Given the description of an element on the screen output the (x, y) to click on. 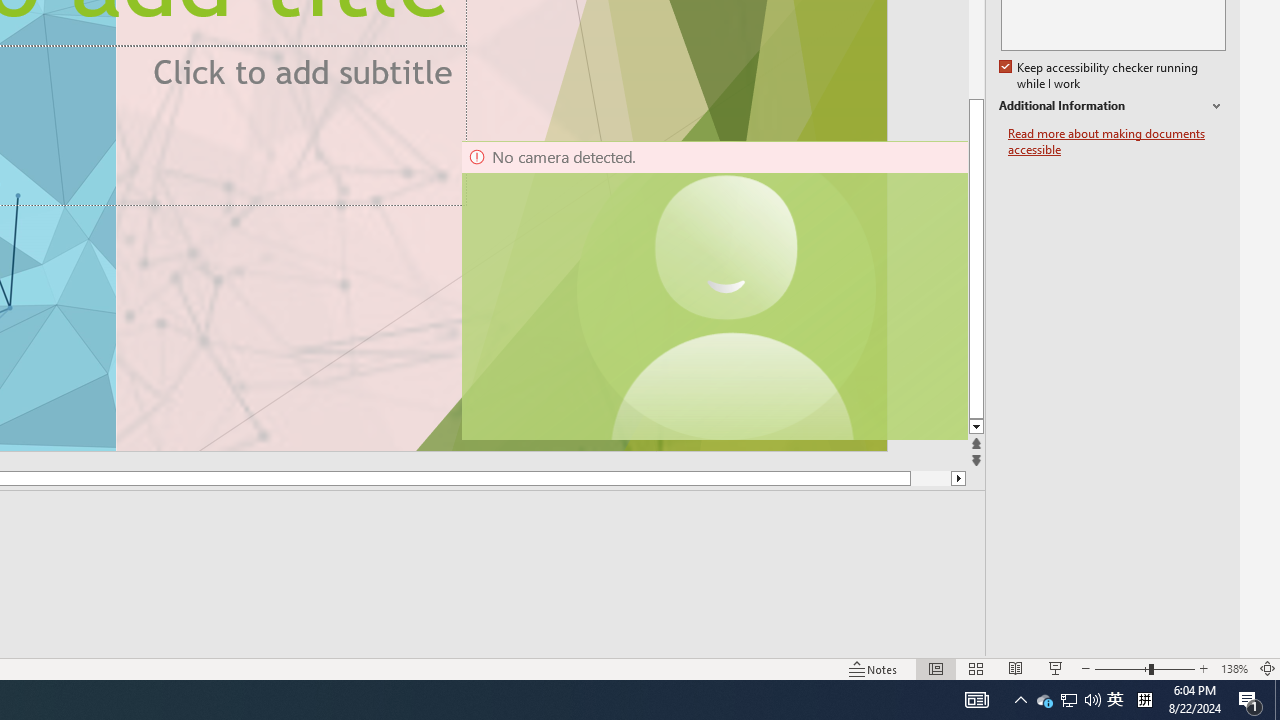
Camera 14, No camera detected. (713, 290)
Zoom 138% (1234, 668)
Read more about making documents accessible (1117, 142)
Camera 11, No camera detected. (727, 290)
